Given the description of an element on the screen output the (x, y) to click on. 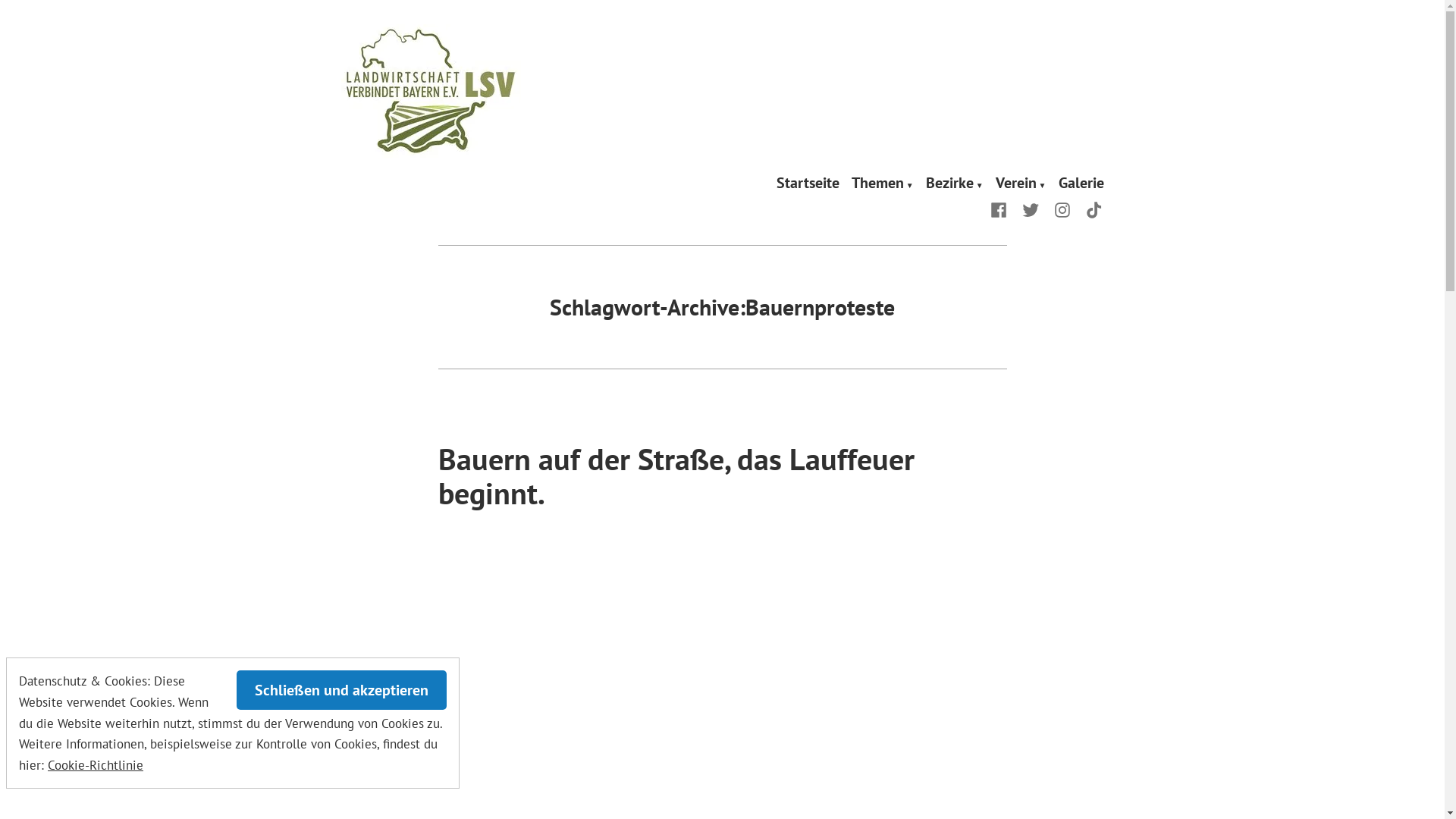
Cookie-Richtlinie Element type: text (95, 764)
Twitter Element type: text (1030, 208)
Verein Element type: text (1020, 183)
Themen Element type: text (882, 183)
Startseite Element type: text (807, 183)
Facebook Element type: text (1001, 208)
TikTok Element type: text (1091, 208)
Instagram Element type: text (1062, 208)
Bezirke Element type: text (954, 183)
Galerie Element type: text (1081, 183)
